Given the description of an element on the screen output the (x, y) to click on. 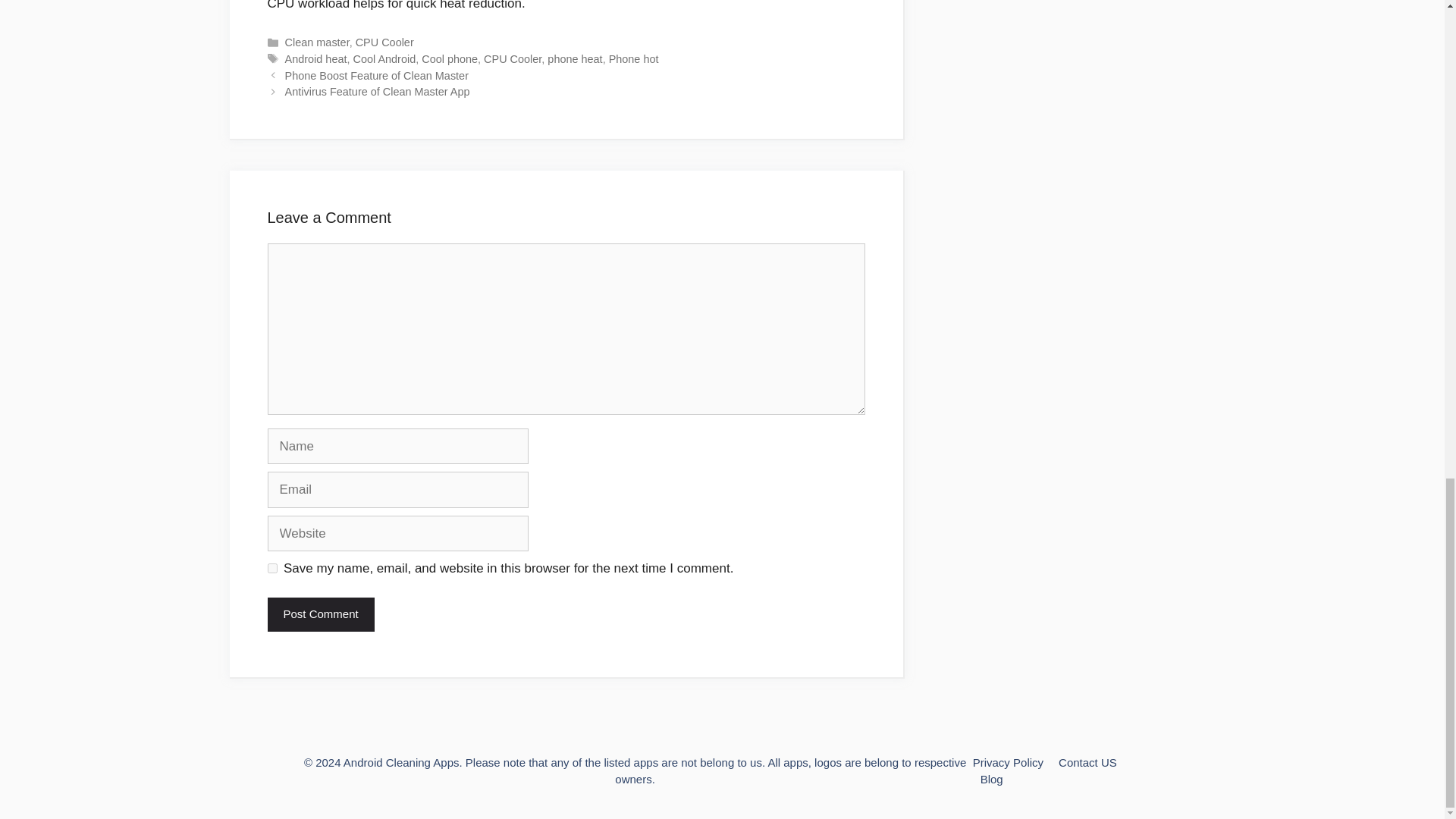
phone heat (574, 59)
Android heat (316, 59)
Phone Boost Feature of Clean Master (376, 75)
CPU Cooler (512, 59)
Post Comment (320, 614)
Blog (991, 779)
Post Comment (320, 614)
Cool phone (449, 59)
Clean master (317, 42)
Antivirus Feature of Clean Master App (377, 91)
Cool Android (384, 59)
yes (271, 568)
CPU Cooler (384, 42)
Phone hot (633, 59)
Privacy Policy (1007, 762)
